Given the description of an element on the screen output the (x, y) to click on. 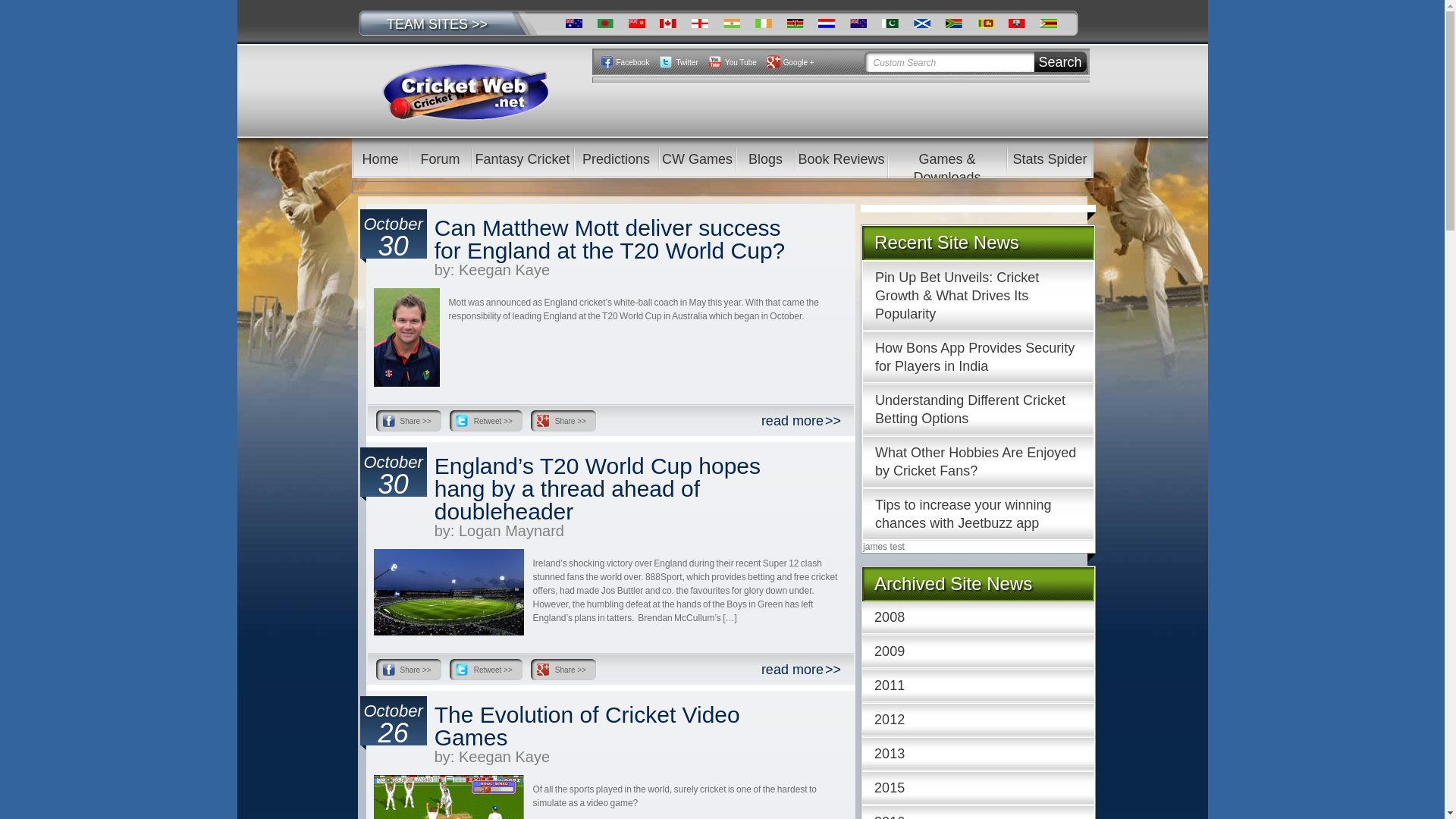
Posts by Keegan Kaye (504, 269)
Posts by Logan Maynard (511, 530)
Understanding Different Cricket Betting Options (978, 409)
How Bons App Provides Security for Players in India (978, 357)
What Other Hobbies Are Enjoyed by Cricket Fans? (978, 461)
Tips to increase your winning chances with Jeetbuzz app (978, 513)
Posts by Keegan Kaye (504, 756)
Search (1059, 61)
